Given the description of an element on the screen output the (x, y) to click on. 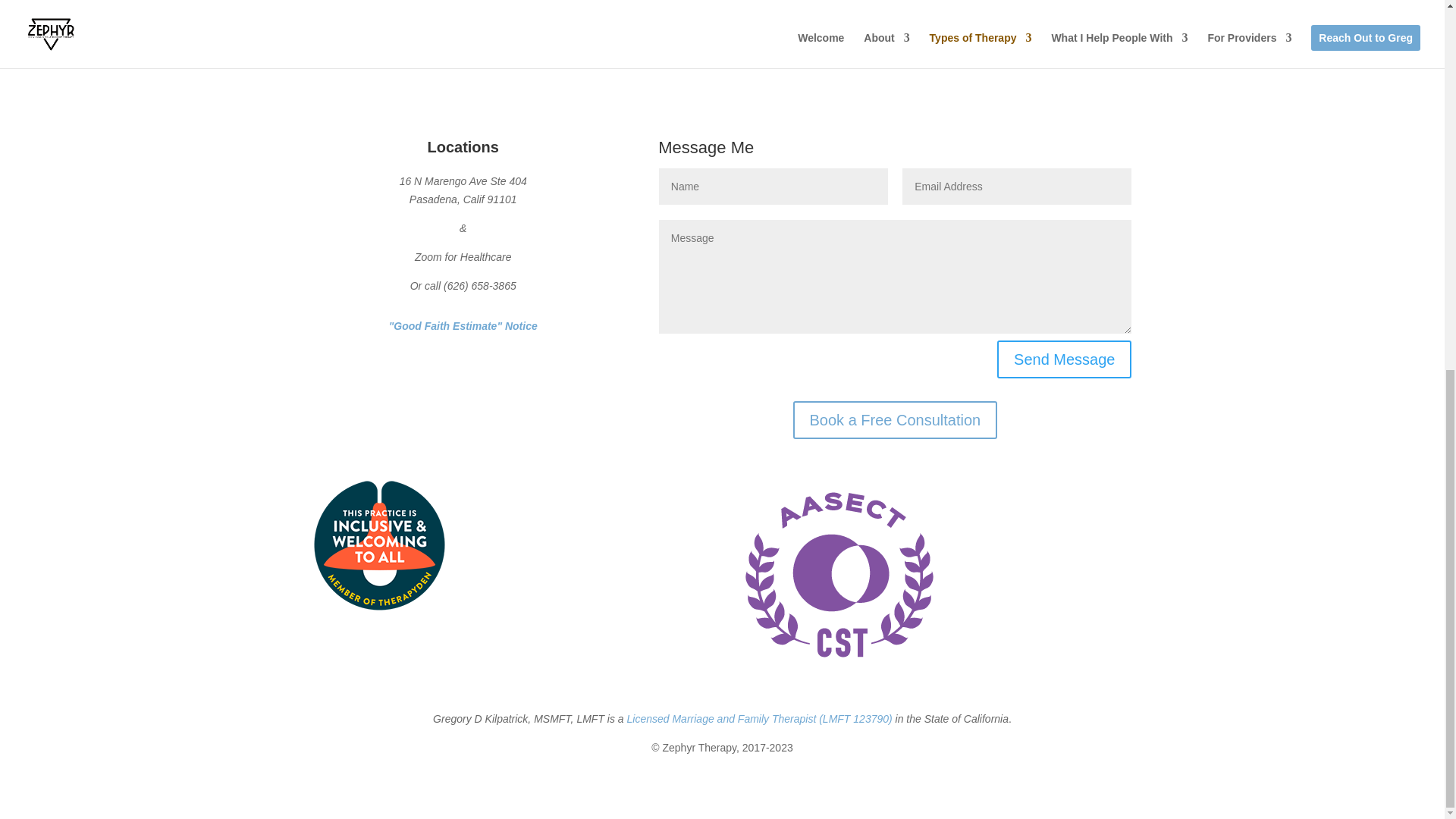
Book a Free Consultation (895, 419)
"Good Faith Estimate" Notice (462, 326)
Book a Discovery Call (896, 8)
Send Message (1064, 359)
